Given the description of an element on the screen output the (x, y) to click on. 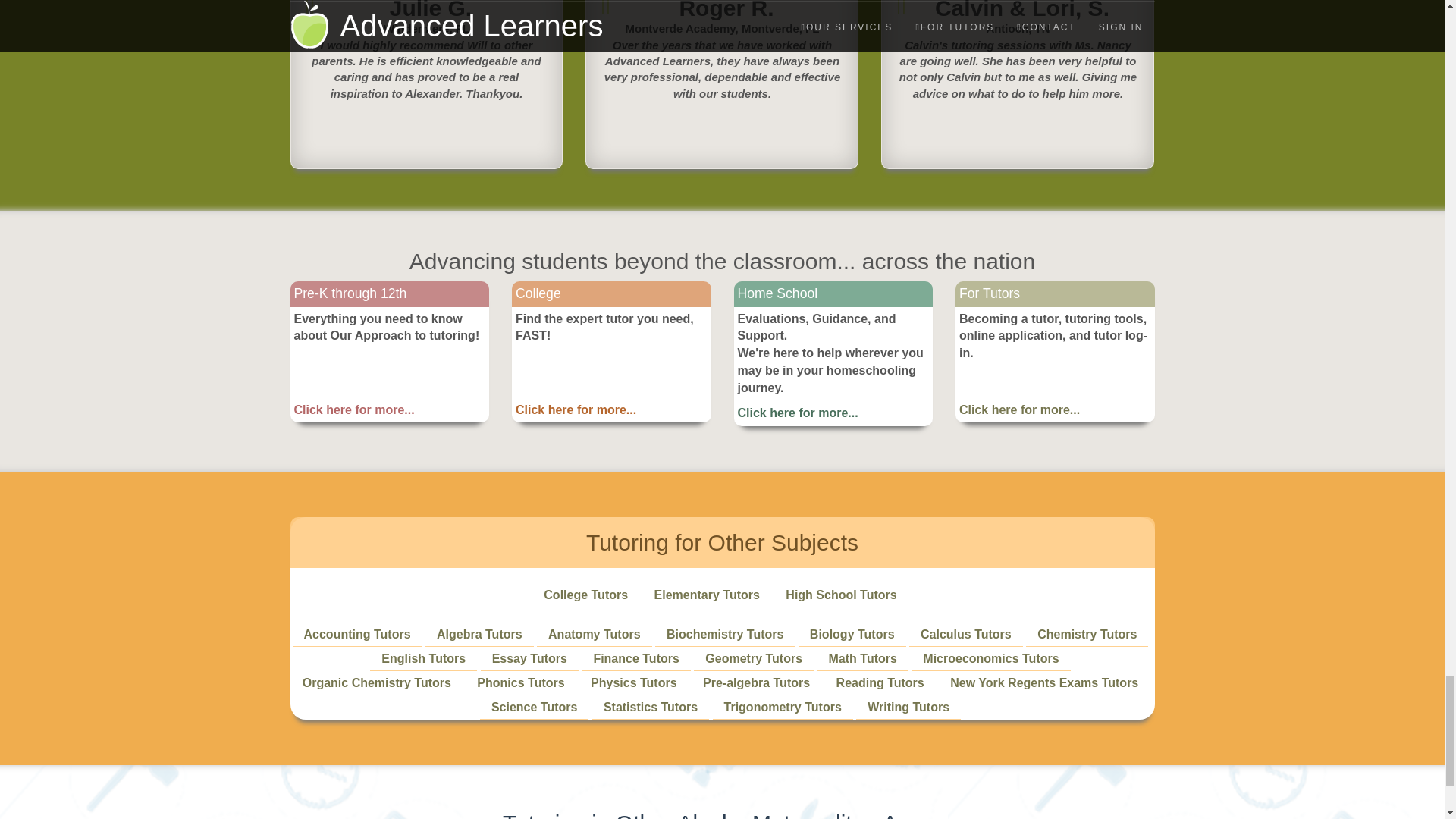
Geometry Tutors (753, 658)
Biochemistry Tutors (724, 634)
Algebra Tutors (479, 634)
College Tutors (585, 594)
Anatomy Tutors (594, 634)
Essay Tutors (529, 658)
High School Tutors (841, 594)
Geometry Tutors (753, 658)
Biochemistry Tutors (724, 634)
English Tutors (423, 658)
Organic Chemistry Tutors (376, 682)
Writing Tutors (908, 707)
Biology Tutors (852, 634)
